Given the description of an element on the screen output the (x, y) to click on. 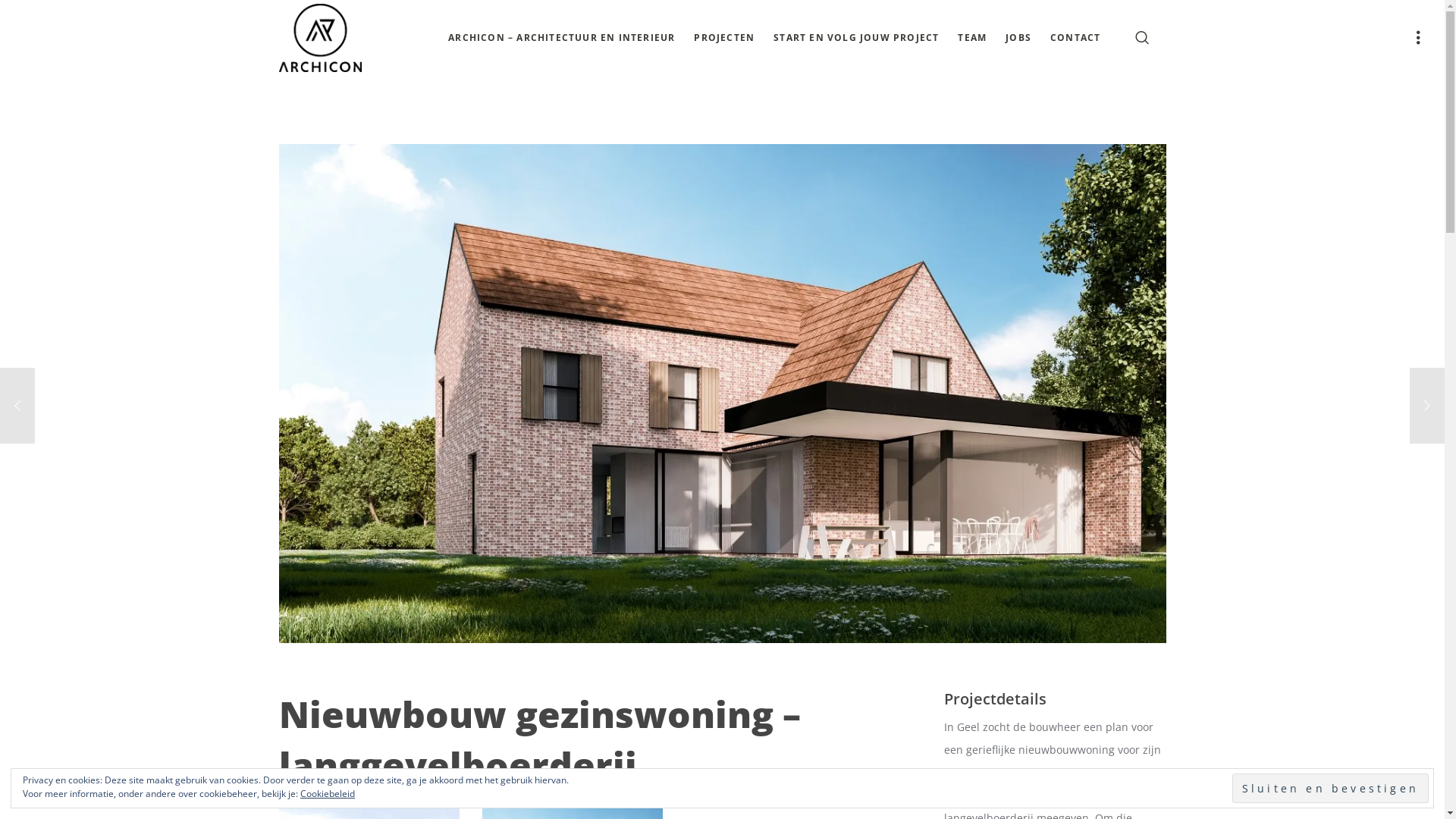
Cookiebeleid Element type: text (327, 793)
Archicon - Architectuur en interieur Element type: hover (320, 37)
PROJECTEN Element type: text (723, 37)
JOBS Element type: text (1018, 37)
START EN VOLG JOUW PROJECT Element type: text (855, 37)
Sluiten en bevestigen Element type: text (1330, 788)
CONTACT Element type: text (1075, 37)
TEAM Element type: text (971, 37)
